Given the description of an element on the screen output the (x, y) to click on. 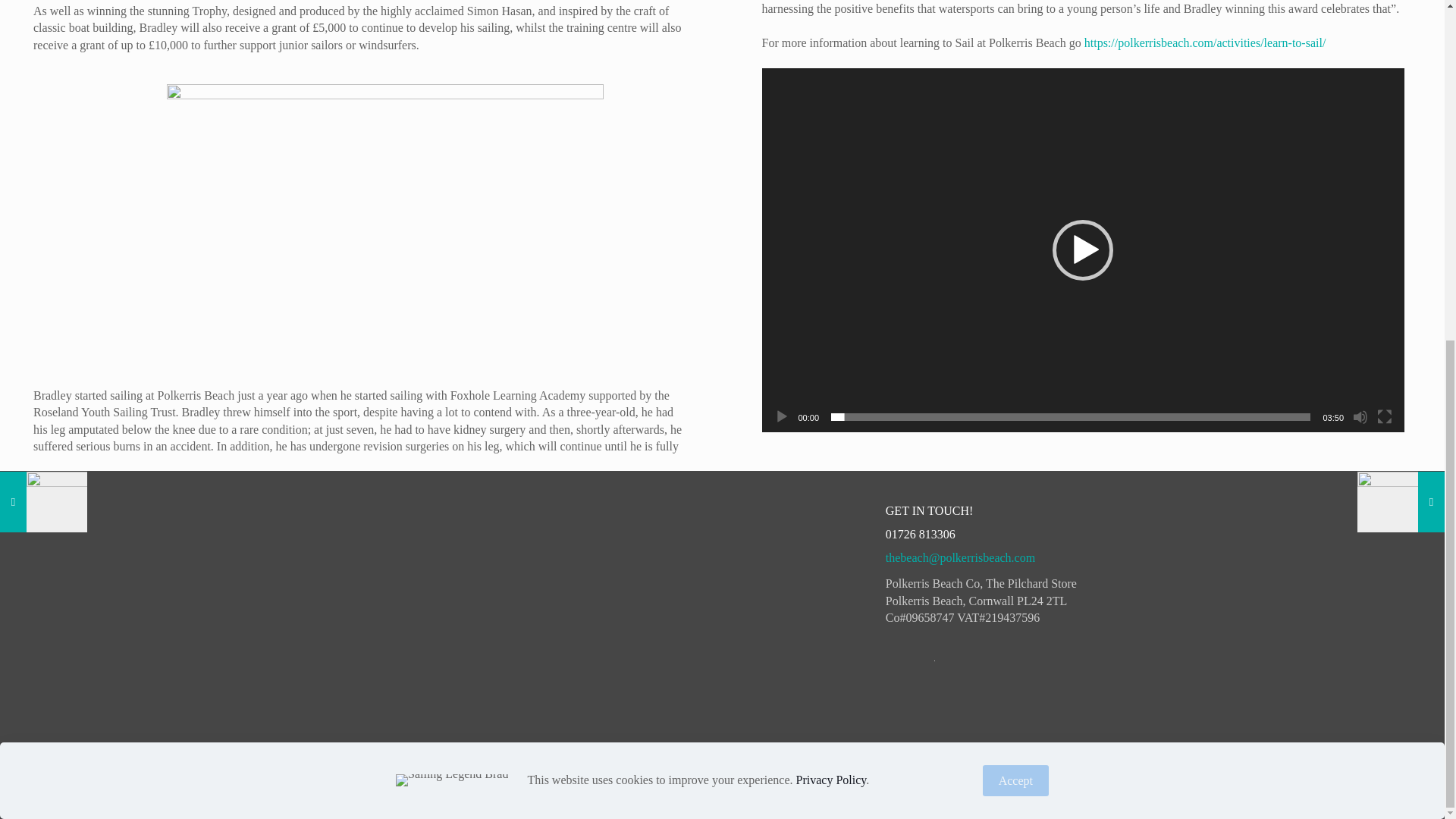
Privacy Policy (461, 779)
Fullscreen (1384, 417)
Sam Tremaine (616, 779)
Web design by (542, 779)
Mute (1360, 417)
Play (781, 417)
